Given the description of an element on the screen output the (x, y) to click on. 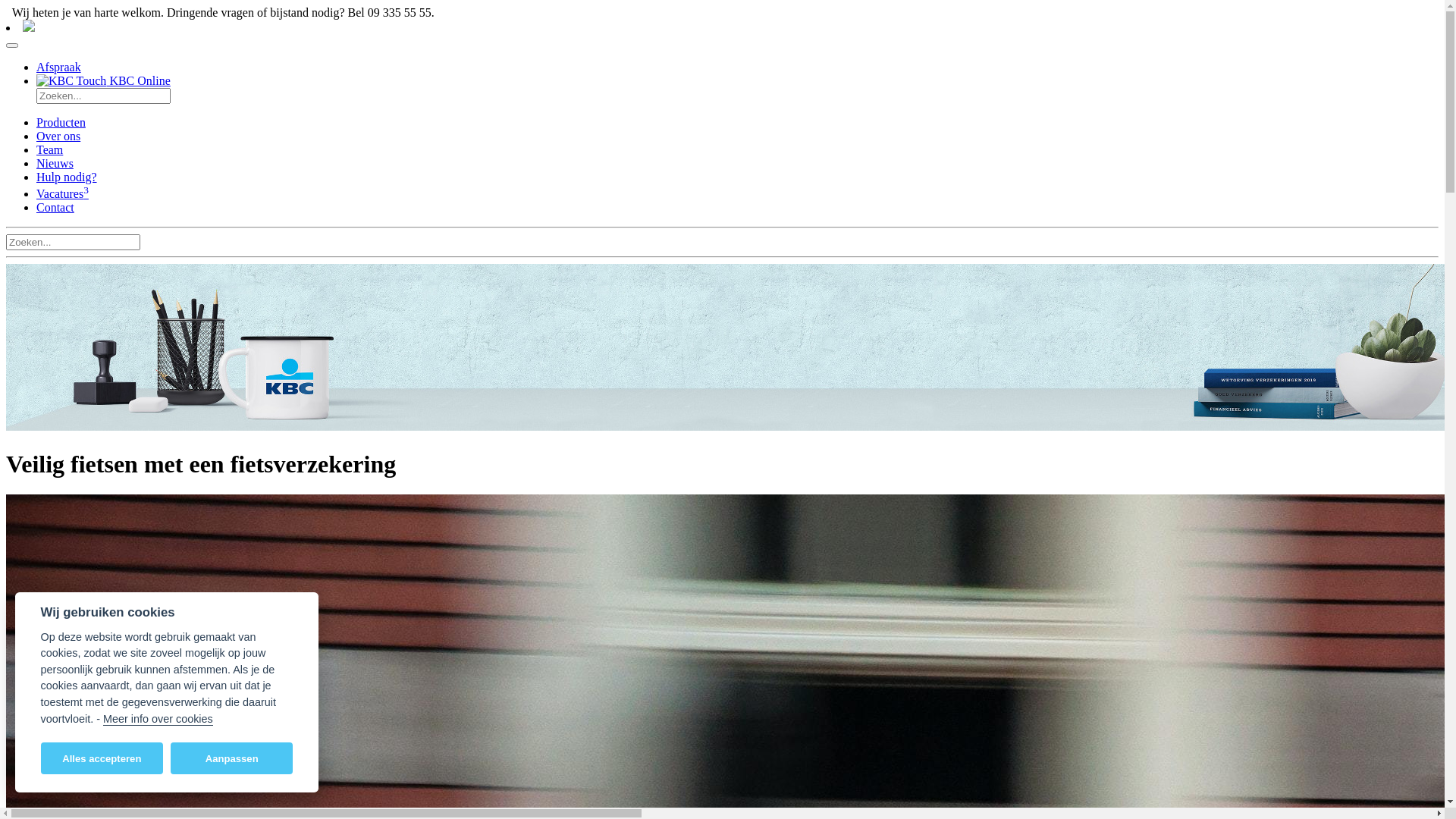
Hulp nodig? Element type: text (66, 176)
Afspraak Element type: text (58, 66)
Contact Element type: text (55, 206)
Aanpassen Element type: text (231, 758)
Over ons Element type: text (58, 135)
Team Element type: text (49, 149)
Alles accepteren Element type: text (101, 758)
Meer info over cookies Element type: text (158, 718)
Producten Element type: text (60, 122)
 KBC Online Element type: text (103, 80)
Nieuws Element type: text (54, 162)
Vacatures3 Element type: text (62, 193)
